Given the description of an element on the screen output the (x, y) to click on. 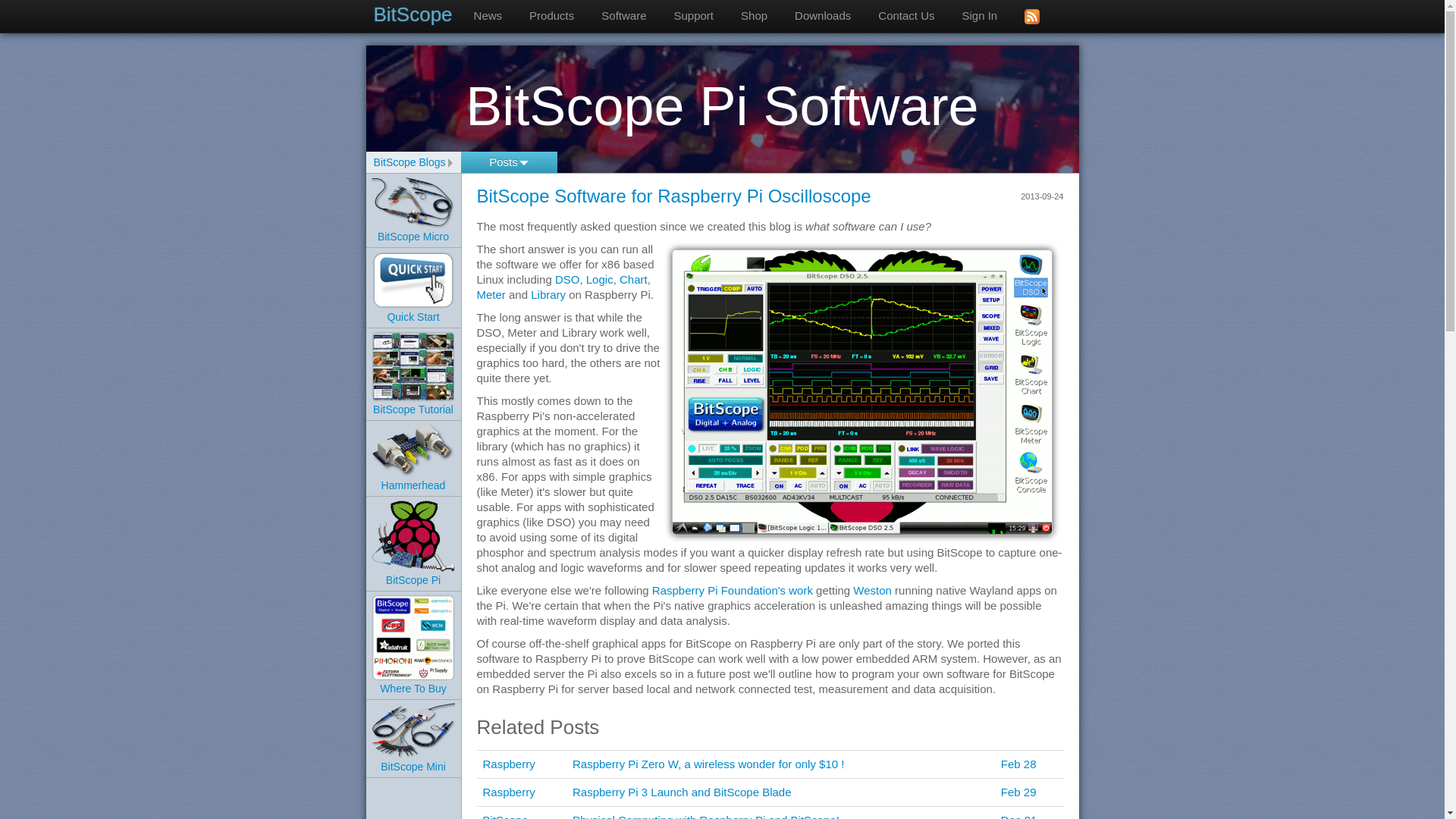
Software for BitScope. (623, 15)
News (488, 15)
BitScope Online Store. (753, 15)
BitScope in Education. (692, 15)
Hammerhead (412, 467)
BitScope Tutorial (412, 387)
Posts (509, 161)
Meter (490, 294)
Logic (599, 278)
Shop (753, 15)
BitScope Mini (412, 748)
BitScope Quick Start Guide (412, 279)
Products (551, 15)
Software (623, 15)
